Given the description of an element on the screen output the (x, y) to click on. 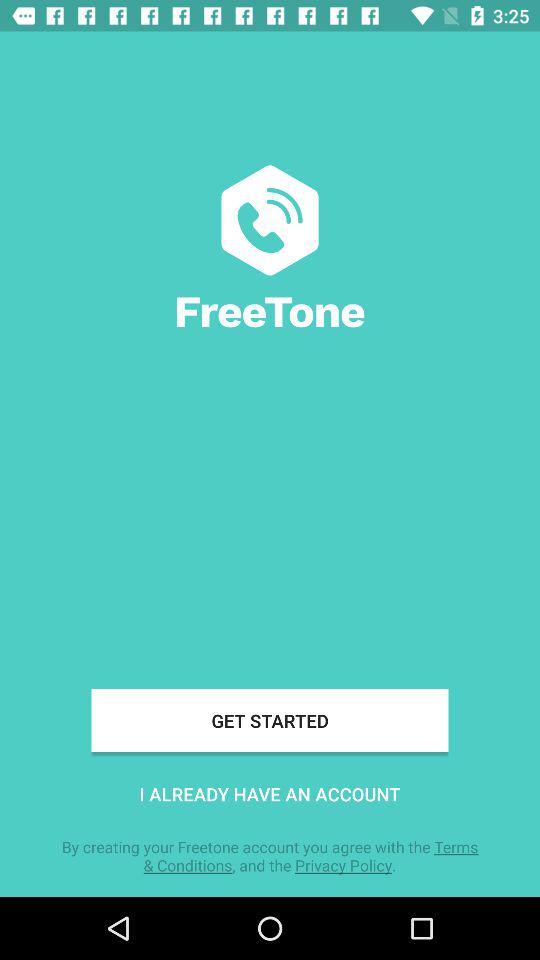
turn off the icon above by creating your icon (269, 793)
